Given the description of an element on the screen output the (x, y) to click on. 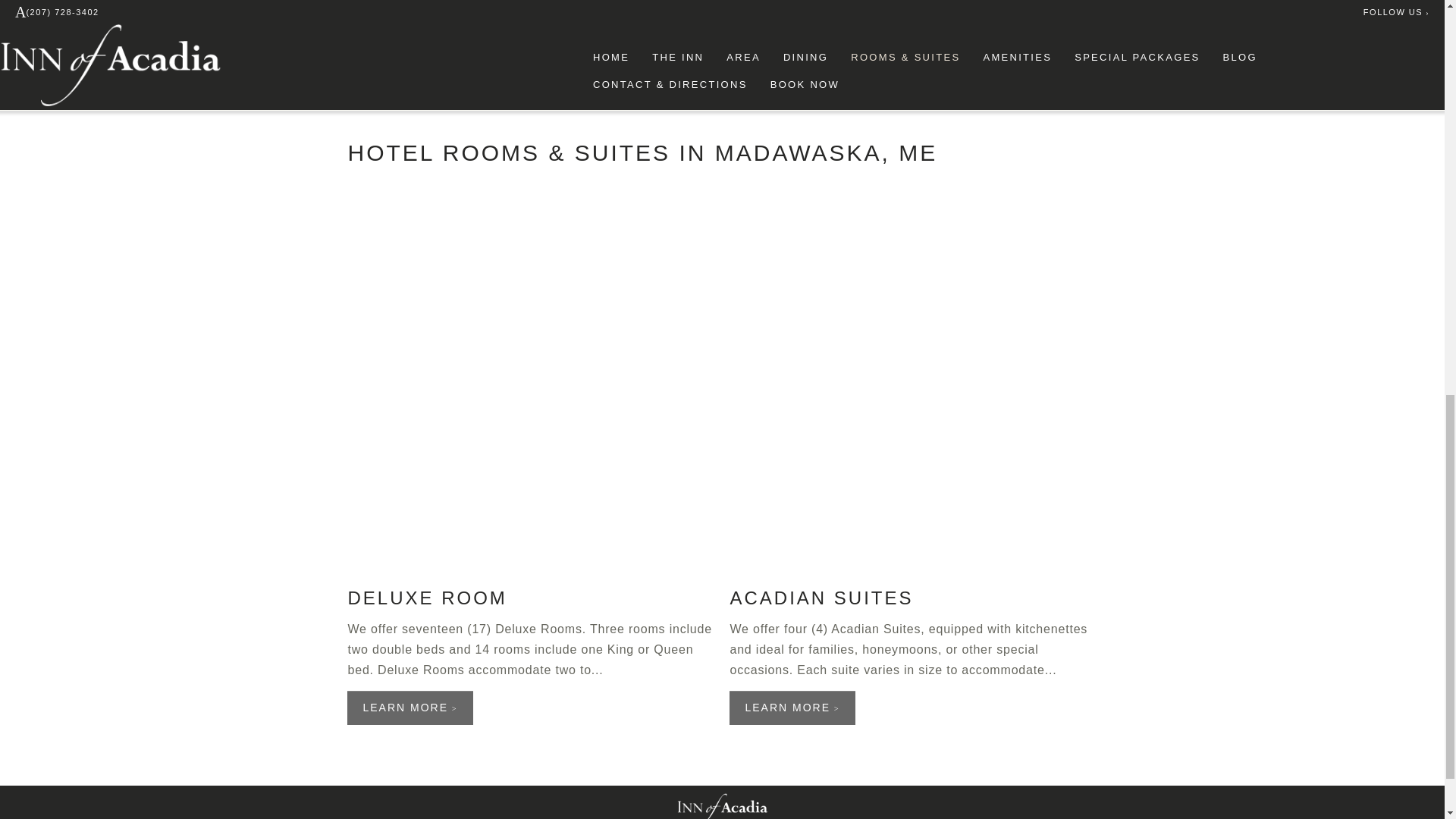
DELUXE ROOM (426, 598)
CONTACT US (408, 74)
ACADIAN SUITES (820, 598)
click here. (536, 36)
click here. (548, 15)
Inn of Acadia (722, 803)
LEARN MORE (791, 707)
LEARN MORE (409, 707)
